Given the description of an element on the screen output the (x, y) to click on. 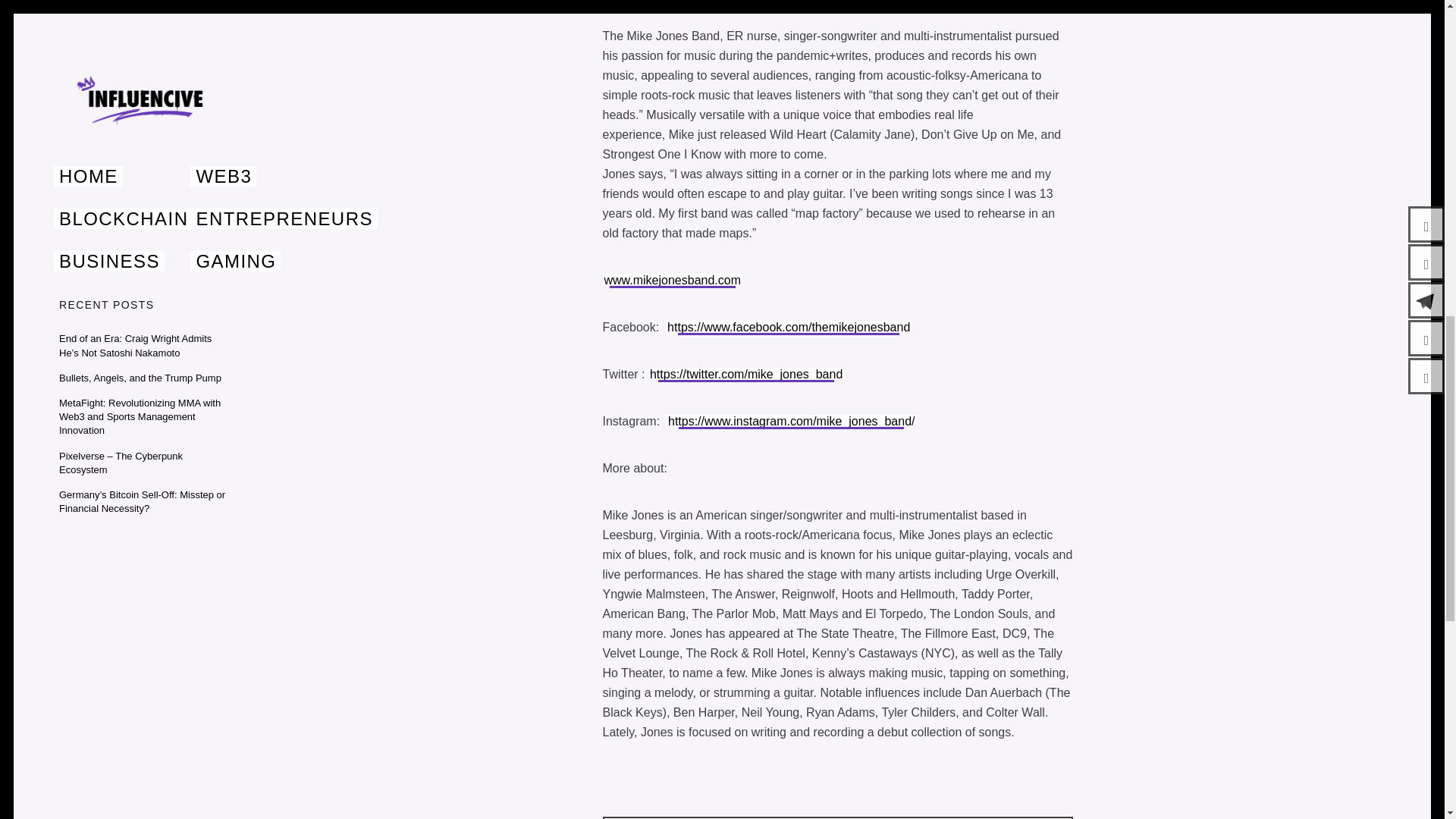
www.mikejonesband.com (672, 279)
